Given the description of an element on the screen output the (x, y) to click on. 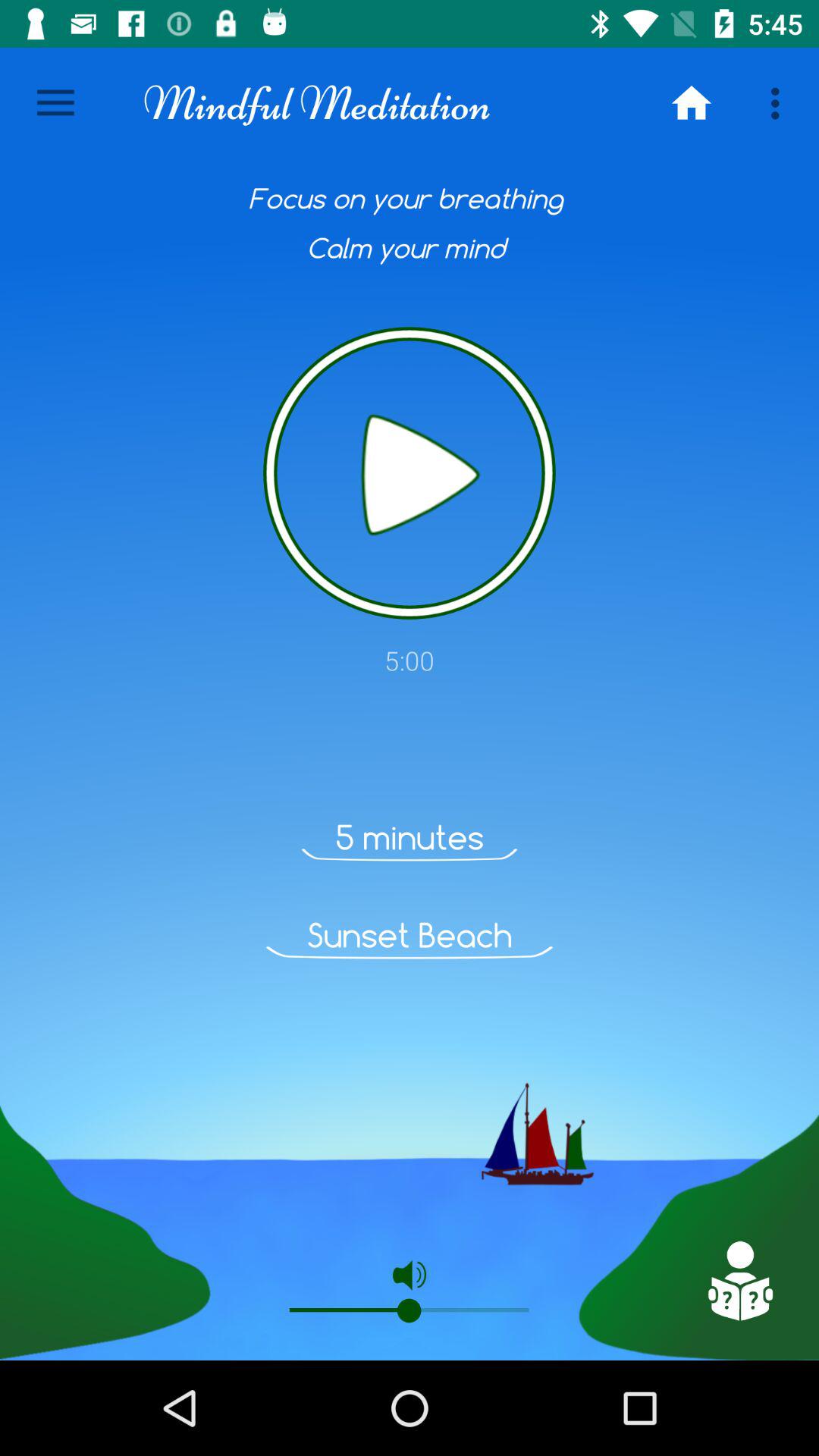
choose item to the left of the mindful meditation item (55, 103)
